Given the description of an element on the screen output the (x, y) to click on. 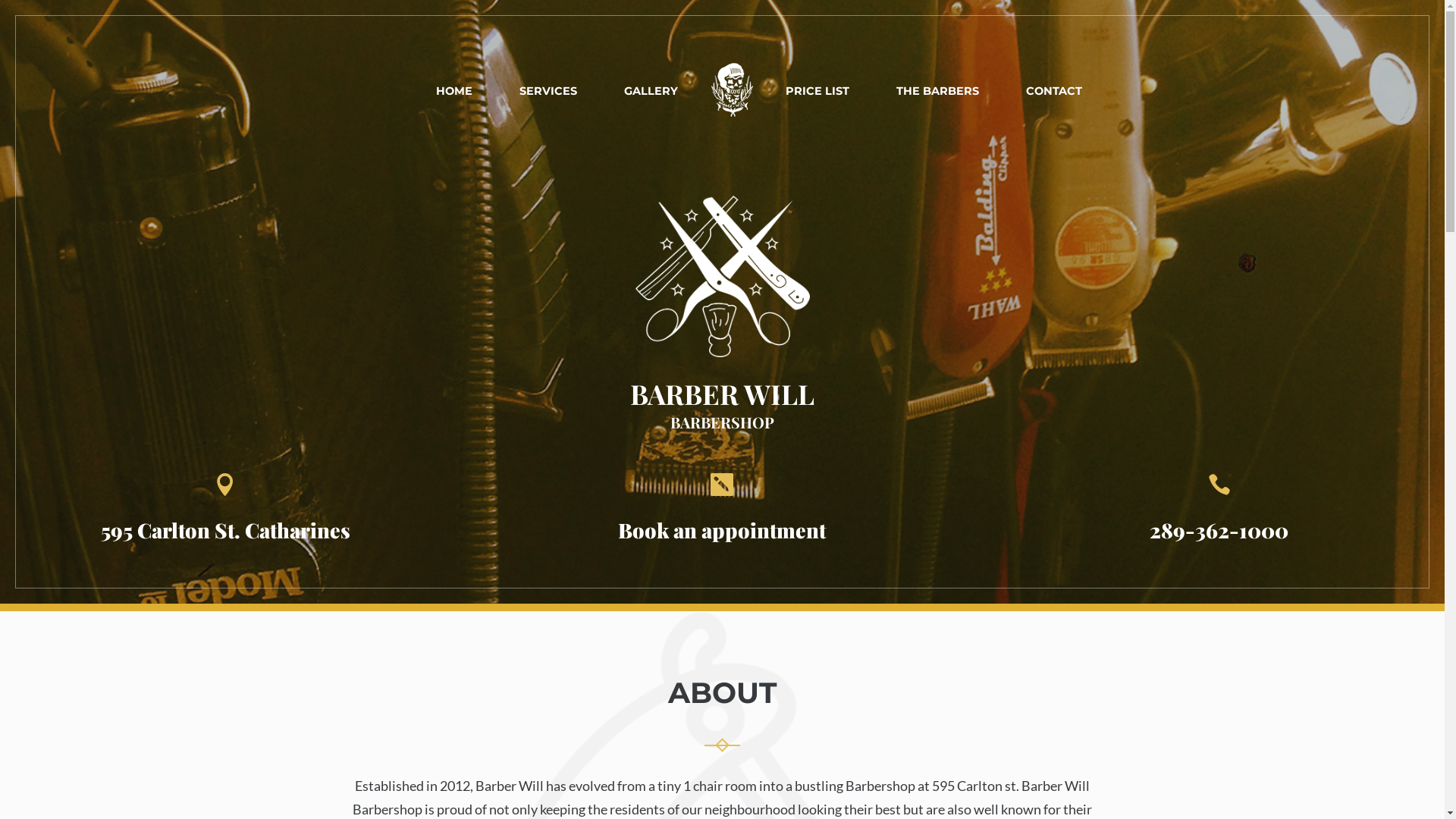
PRICE LIST Element type: text (817, 90)
THE BARBERS Element type: text (937, 90)
ornament Element type: hover (722, 744)
logo-barber-will Element type: hover (722, 276)
CONTACT Element type: text (1054, 90)
HOME Element type: text (454, 90)
GALLERY Element type: text (650, 90)
SERVICES Element type: text (548, 90)
